Given the description of an element on the screen output the (x, y) to click on. 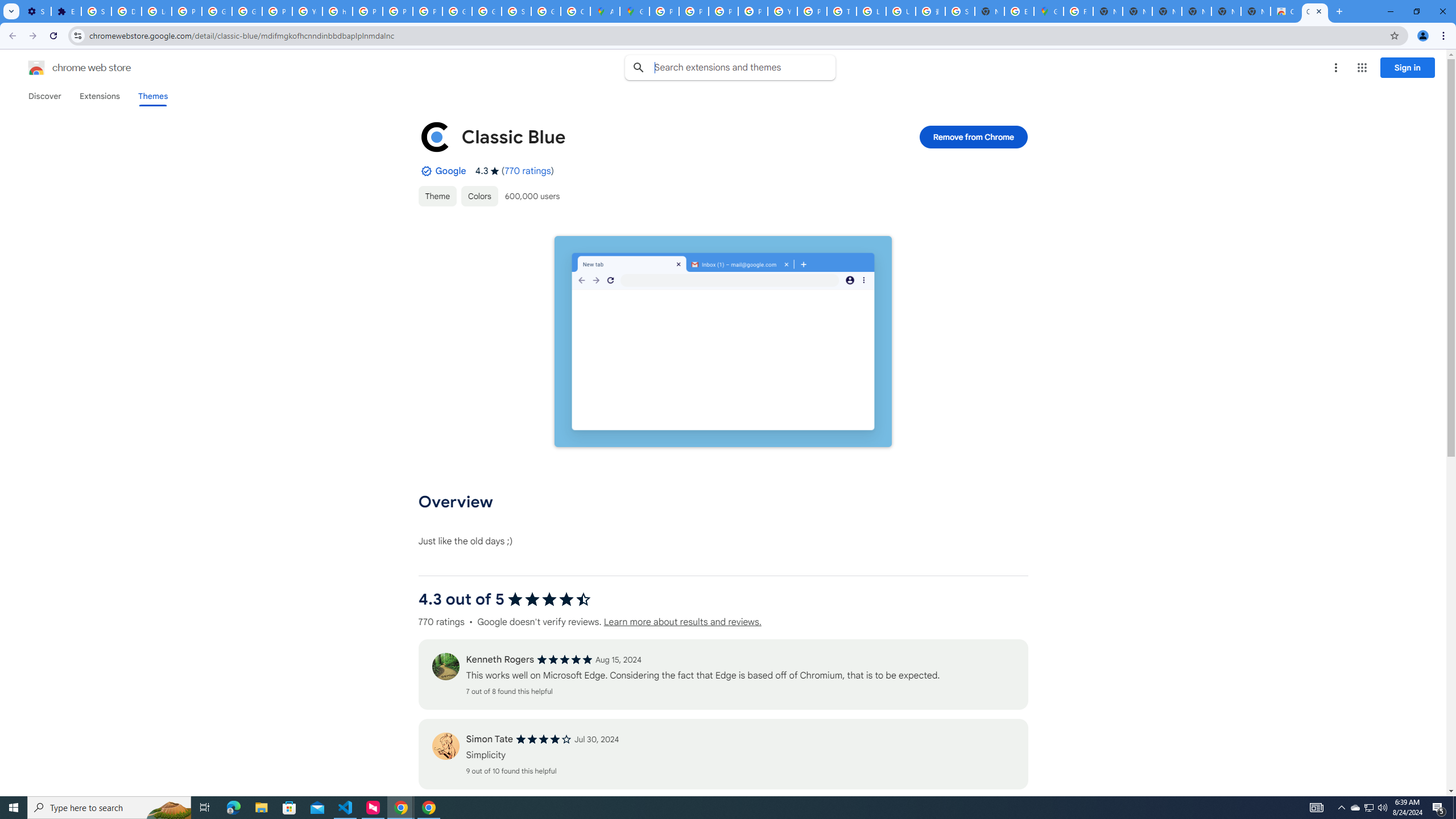
Sign in - Google Accounts (95, 11)
Tips & tricks for Chrome - Google Chrome Help (841, 11)
Item logo image for Classic Blue (434, 136)
Sign in - Google Accounts (959, 11)
Privacy Help Center - Policies Help (367, 11)
Colors (479, 195)
Chrome Web Store logo chrome web store (67, 67)
Google Maps (1048, 11)
